Given the description of an element on the screen output the (x, y) to click on. 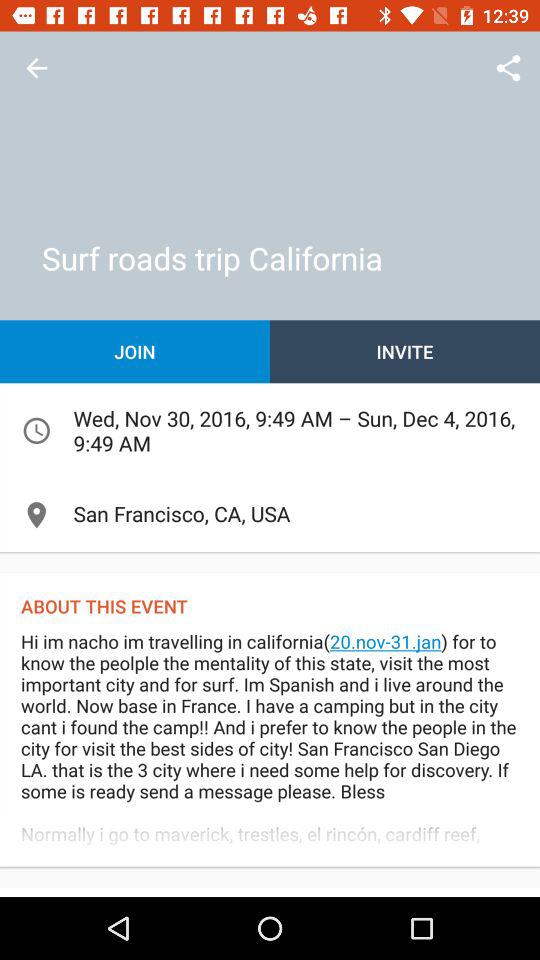
go back (36, 68)
